Given the description of an element on the screen output the (x, y) to click on. 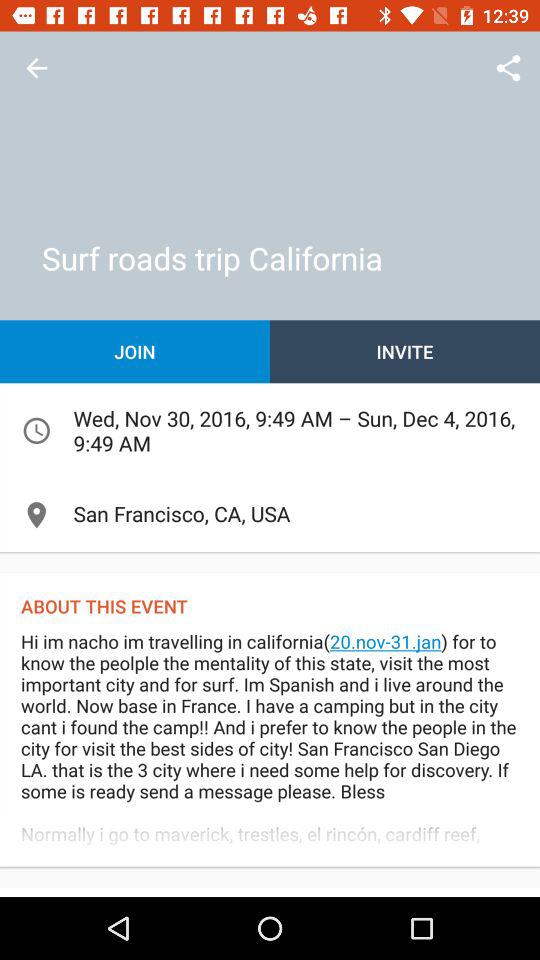
go back (36, 68)
